Given the description of an element on the screen output the (x, y) to click on. 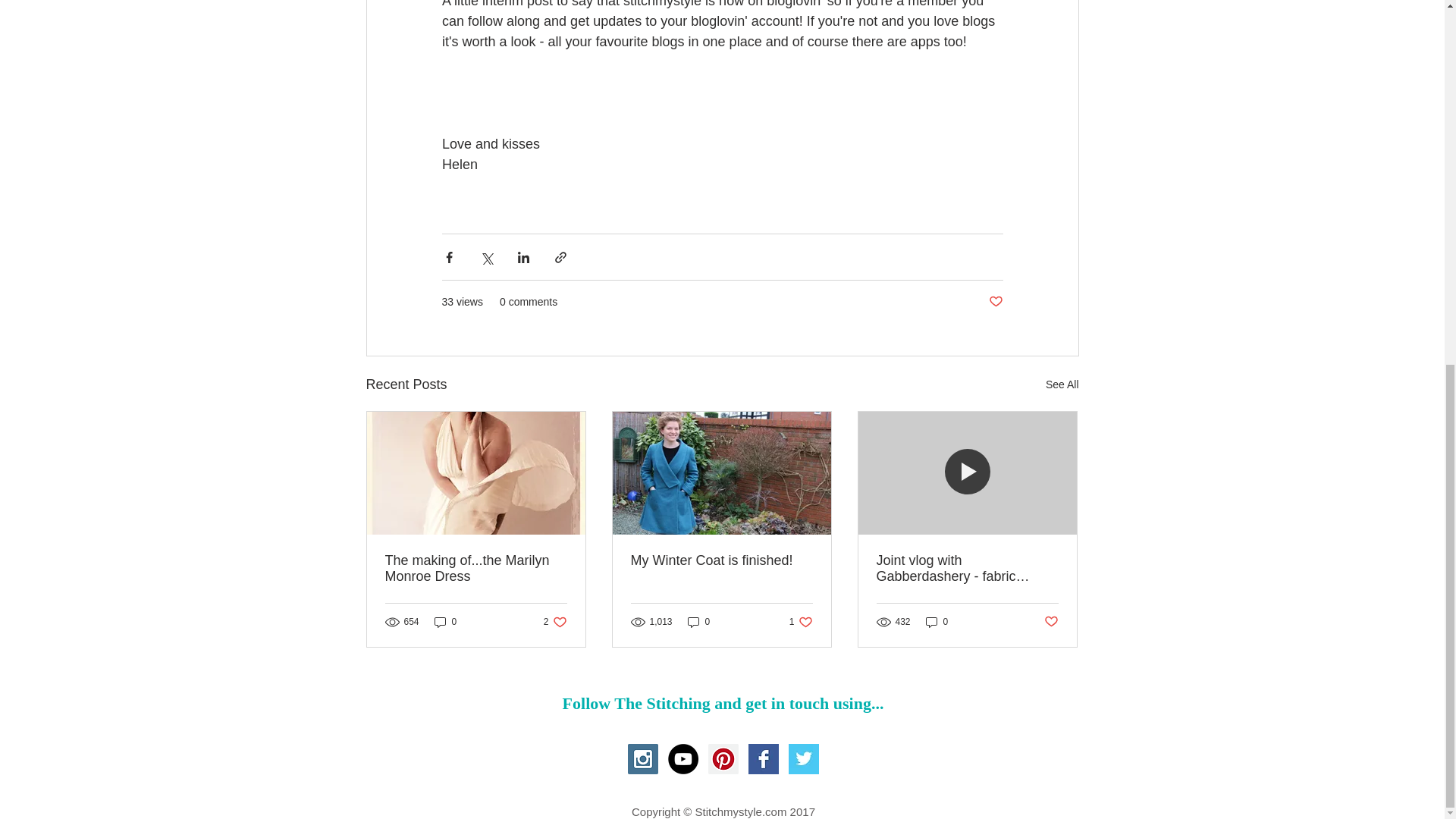
Post not marked as liked (1050, 621)
0 (800, 622)
Joint vlog with Gabberdashery - fabric shopping in London (937, 622)
0 (967, 568)
The making of...the Marilyn Monroe Dress (445, 622)
0 (555, 622)
See All (476, 568)
Post not marked as liked (698, 622)
